Given the description of an element on the screen output the (x, y) to click on. 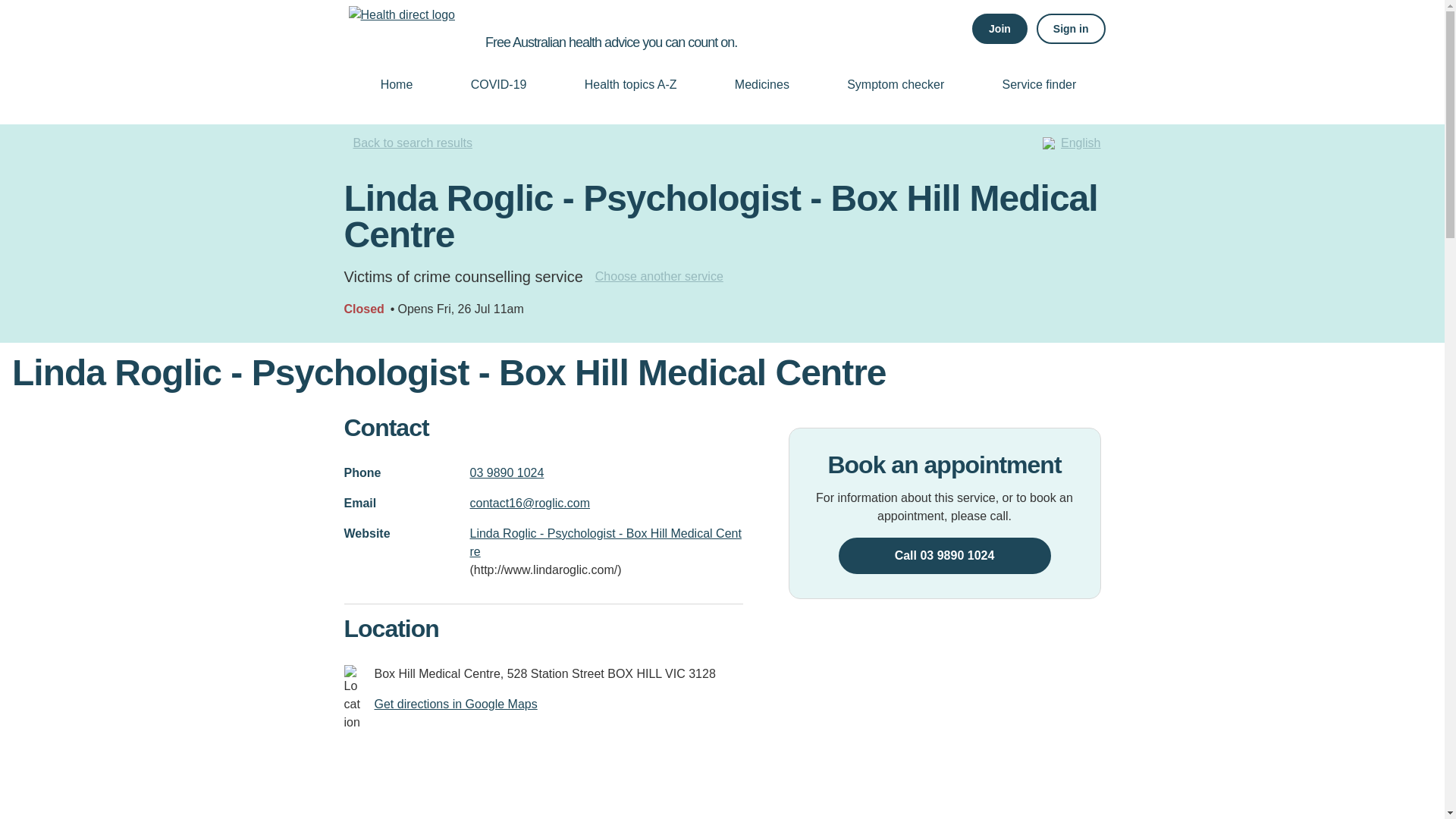
Service finder (1038, 84)
Symptom checker (895, 84)
COVID-19 (497, 84)
Choose another service (659, 276)
Medicines (762, 84)
Back to search results (407, 142)
Sign in (1070, 28)
Join (999, 28)
Health topics A-Z (631, 84)
03 9890 1024 (606, 473)
Home (397, 84)
English (1080, 142)
